Given the description of an element on the screen output the (x, y) to click on. 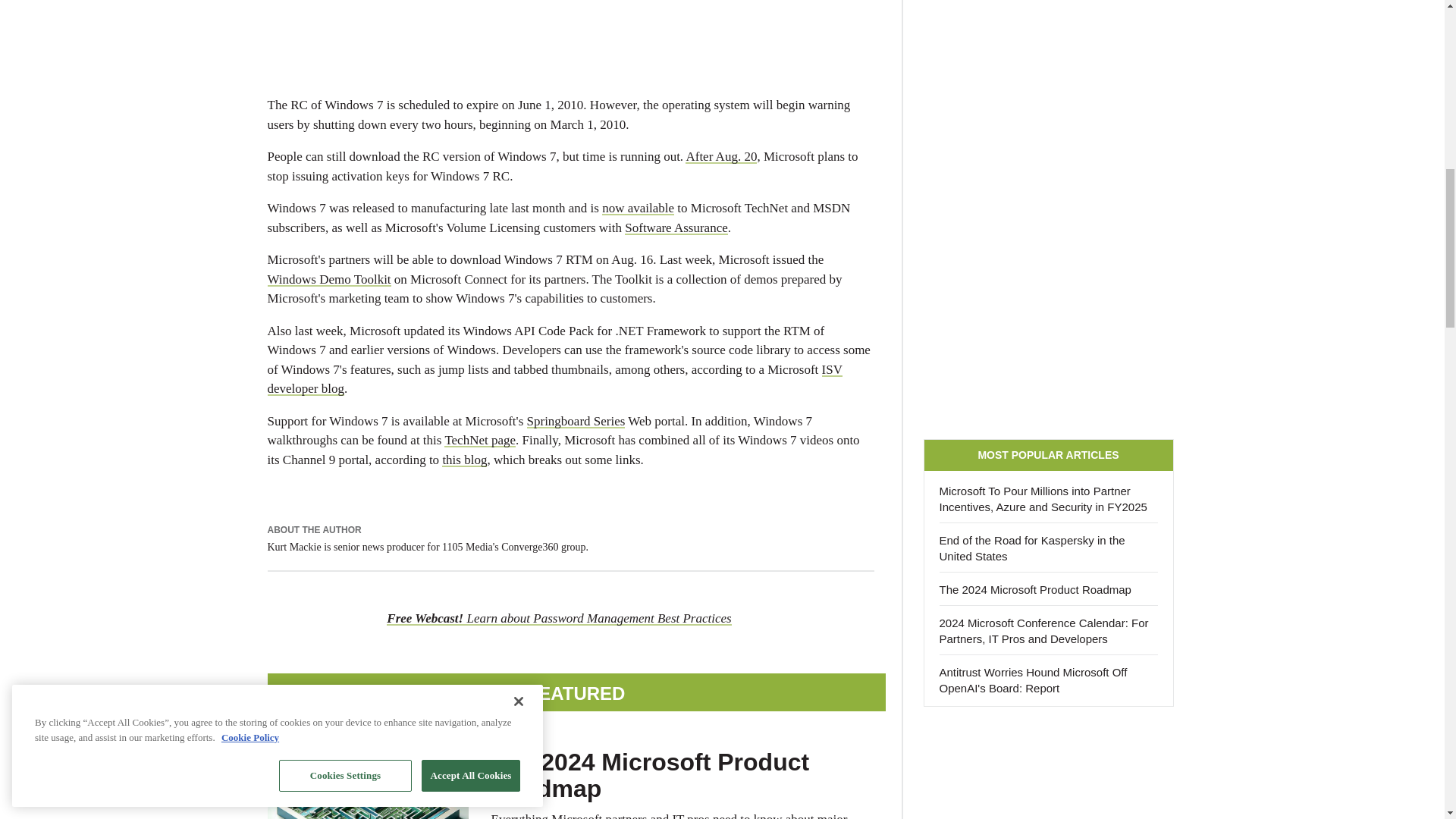
3rd party ad content (1047, 770)
3rd party ad content (570, 28)
